Given the description of an element on the screen output the (x, y) to click on. 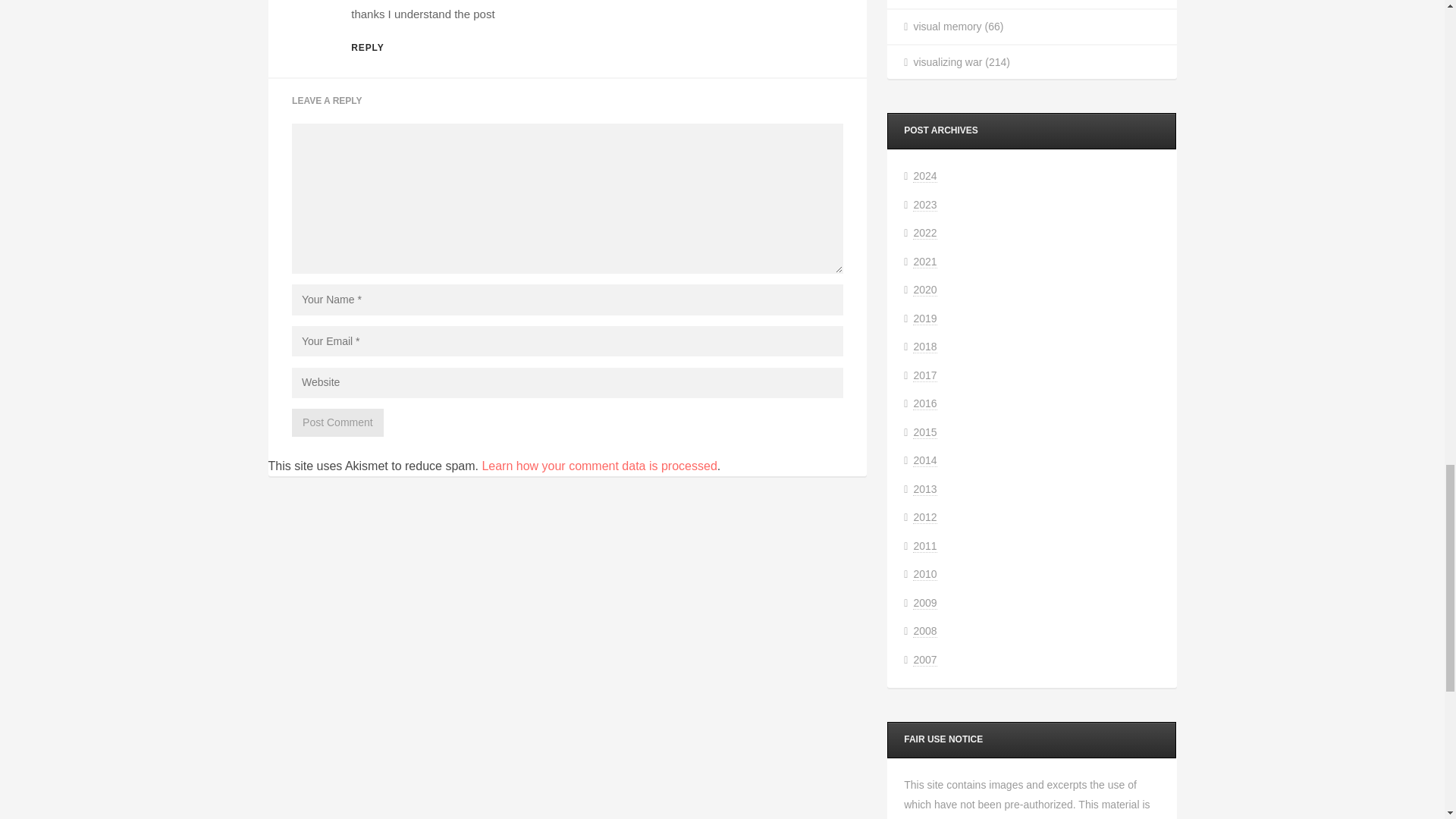
Post Comment (338, 422)
Learn how your comment data is processed (598, 465)
REPLY (367, 47)
Post Comment (338, 422)
